Given the description of an element on the screen output the (x, y) to click on. 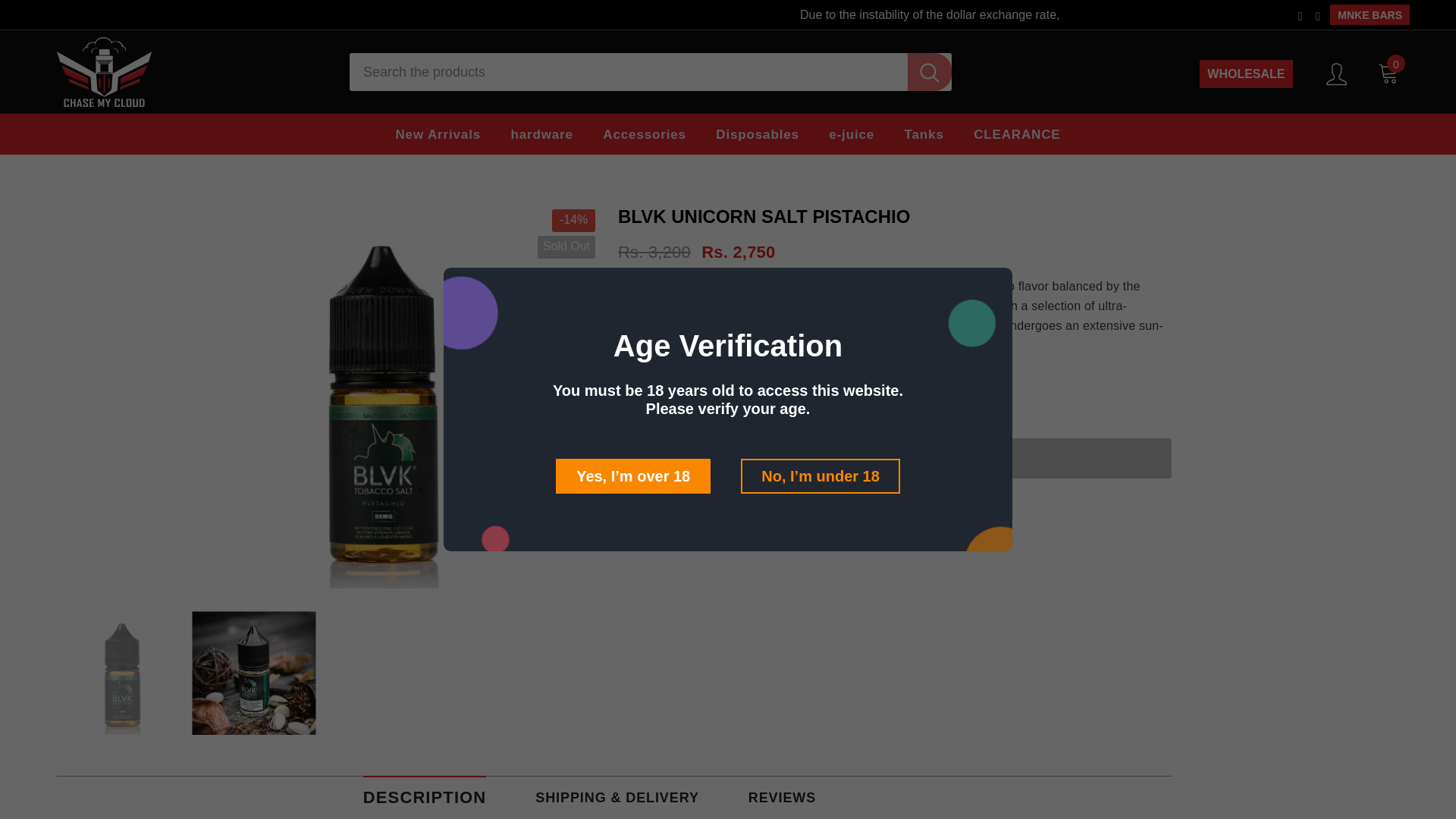
CLEARANCE (1016, 133)
Logo (191, 71)
Share: (647, 489)
Sold Out (894, 458)
DESCRIPTION (424, 796)
MNKE BARS (1369, 14)
hardware (542, 133)
Accessories (643, 133)
Tanks (923, 133)
REVIEWS (781, 796)
